Given the description of an element on the screen output the (x, y) to click on. 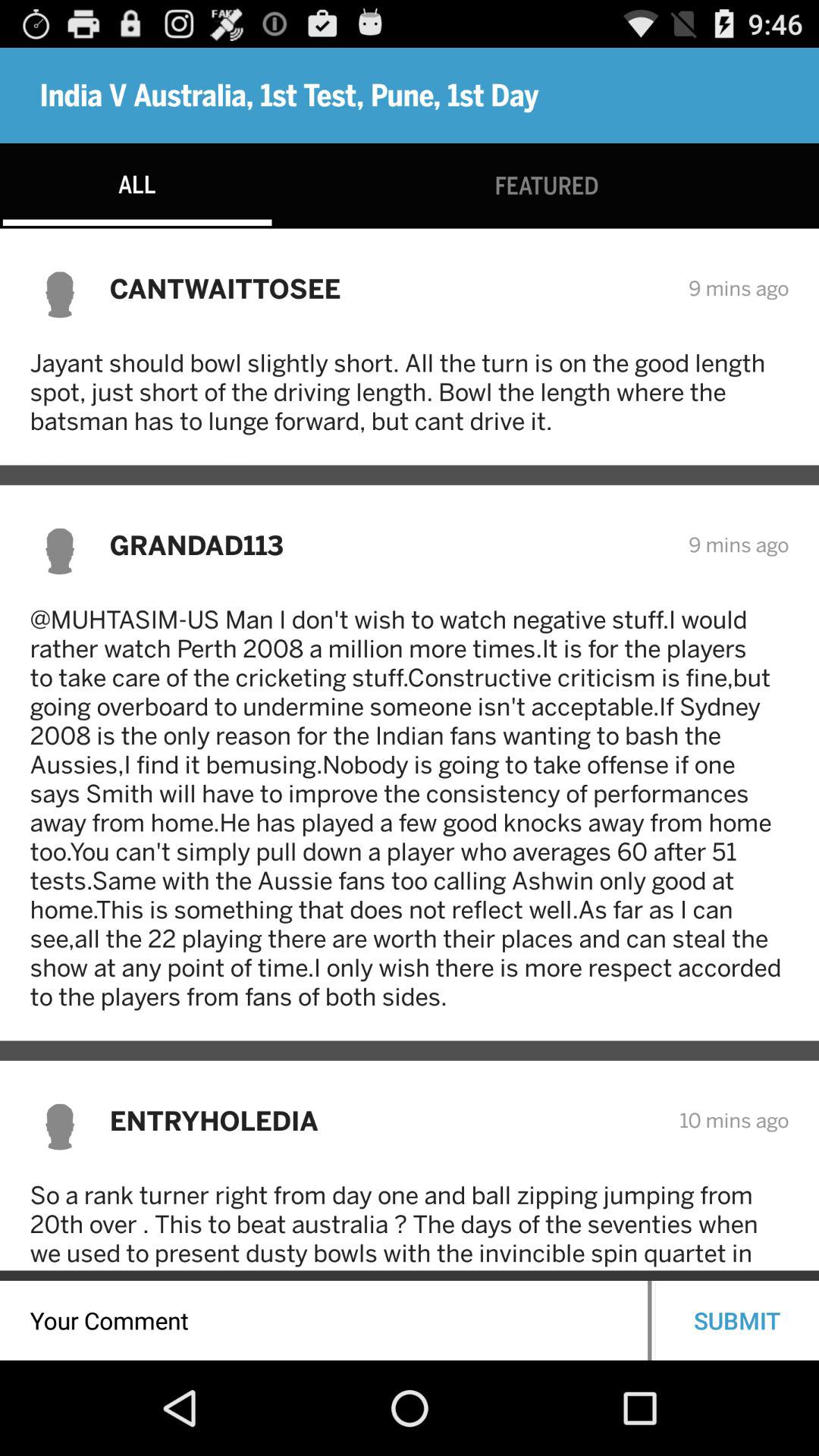
scroll to the muhtasim us man item (409, 807)
